Given the description of an element on the screen output the (x, y) to click on. 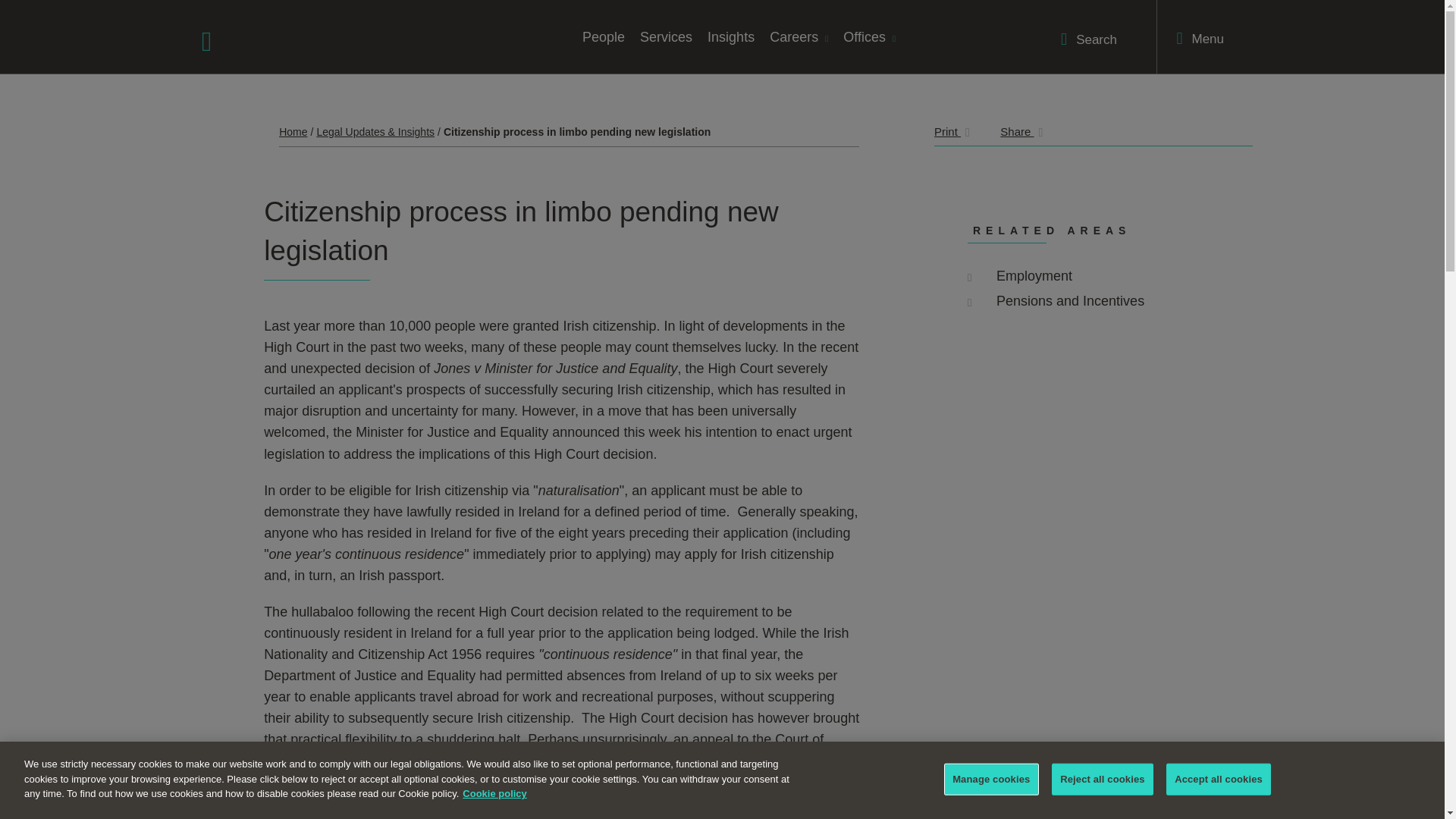
Careers (799, 37)
Insights (730, 37)
Menu (1200, 38)
People (603, 37)
Offices (869, 37)
Search (1088, 39)
Services (666, 37)
